Given the description of an element on the screen output the (x, y) to click on. 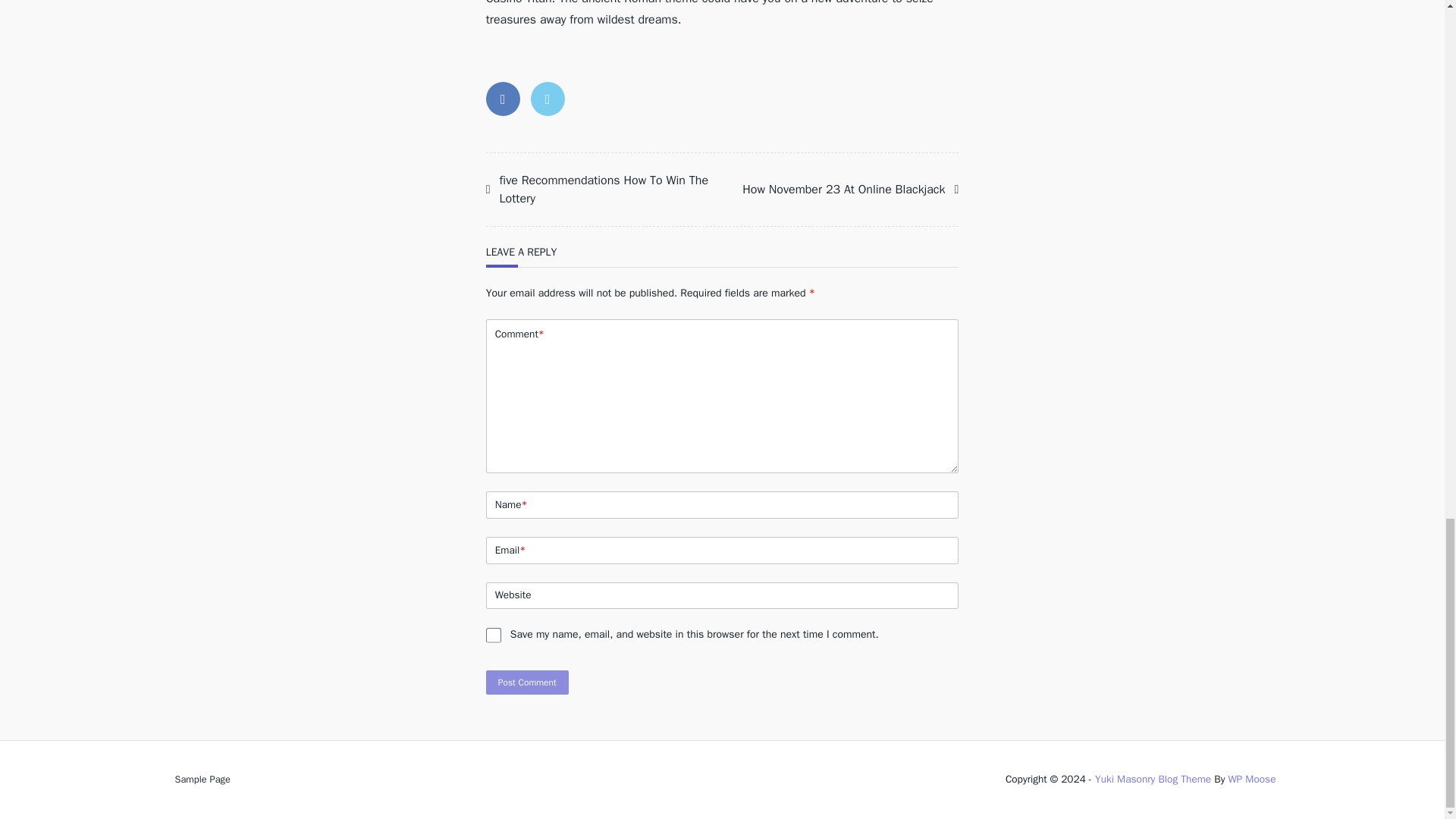
five Recommendations How To Win The Lottery (604, 189)
yes (493, 635)
Sample Page (201, 778)
WP Moose (1251, 779)
Yuki Masonry Blog Theme (1152, 779)
Post Comment (527, 682)
Post Comment (527, 682)
How November 23 At Online Blackjack (845, 189)
